Given the description of an element on the screen output the (x, y) to click on. 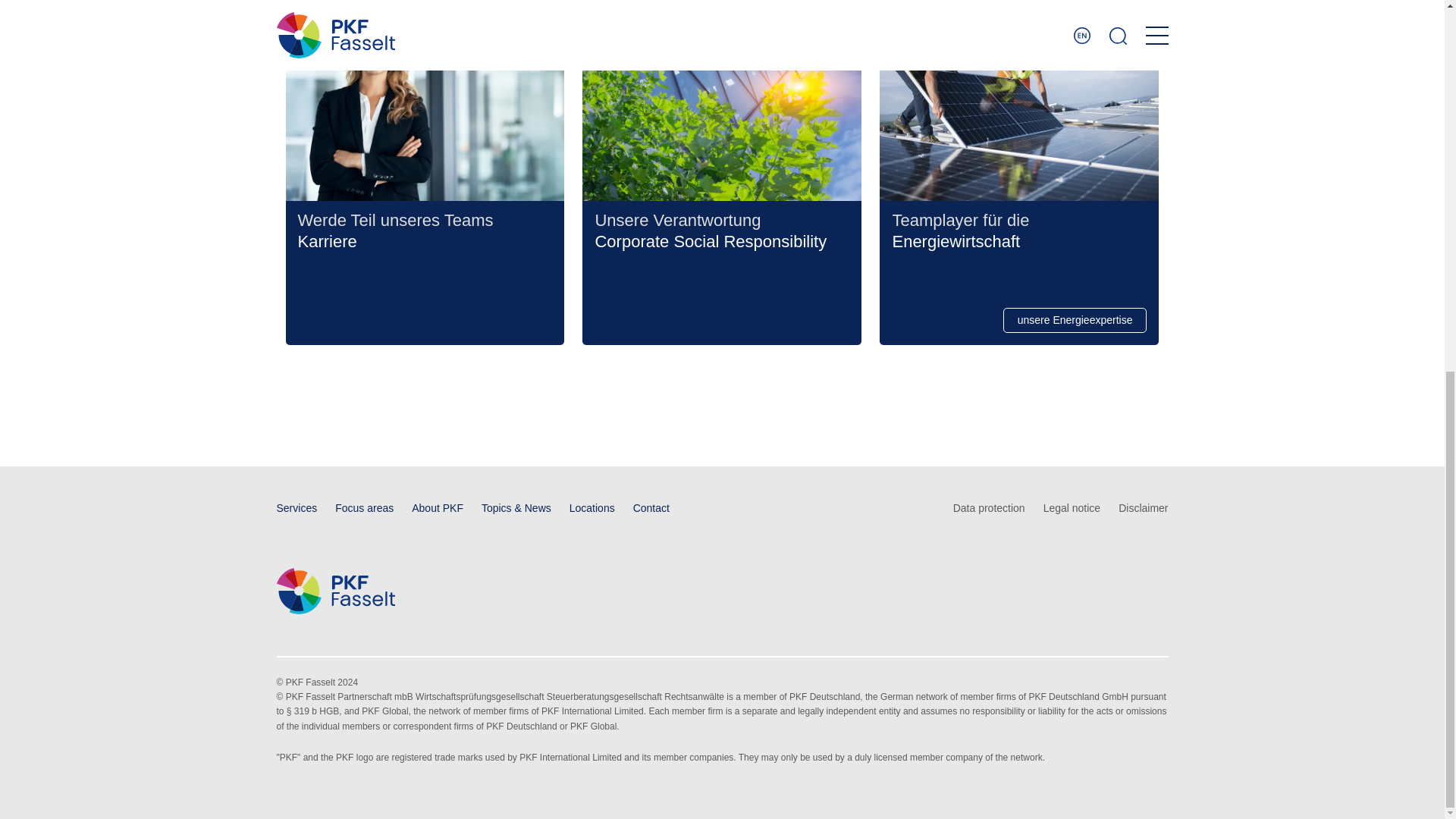
Legal notice (1071, 508)
1405880267 (1018, 100)
About PKF (437, 508)
Locations (591, 508)
Contact (651, 508)
Data protection (989, 508)
Focus areas (363, 508)
Services (296, 508)
Disclaimer (1142, 508)
